Given the description of an element on the screen output the (x, y) to click on. 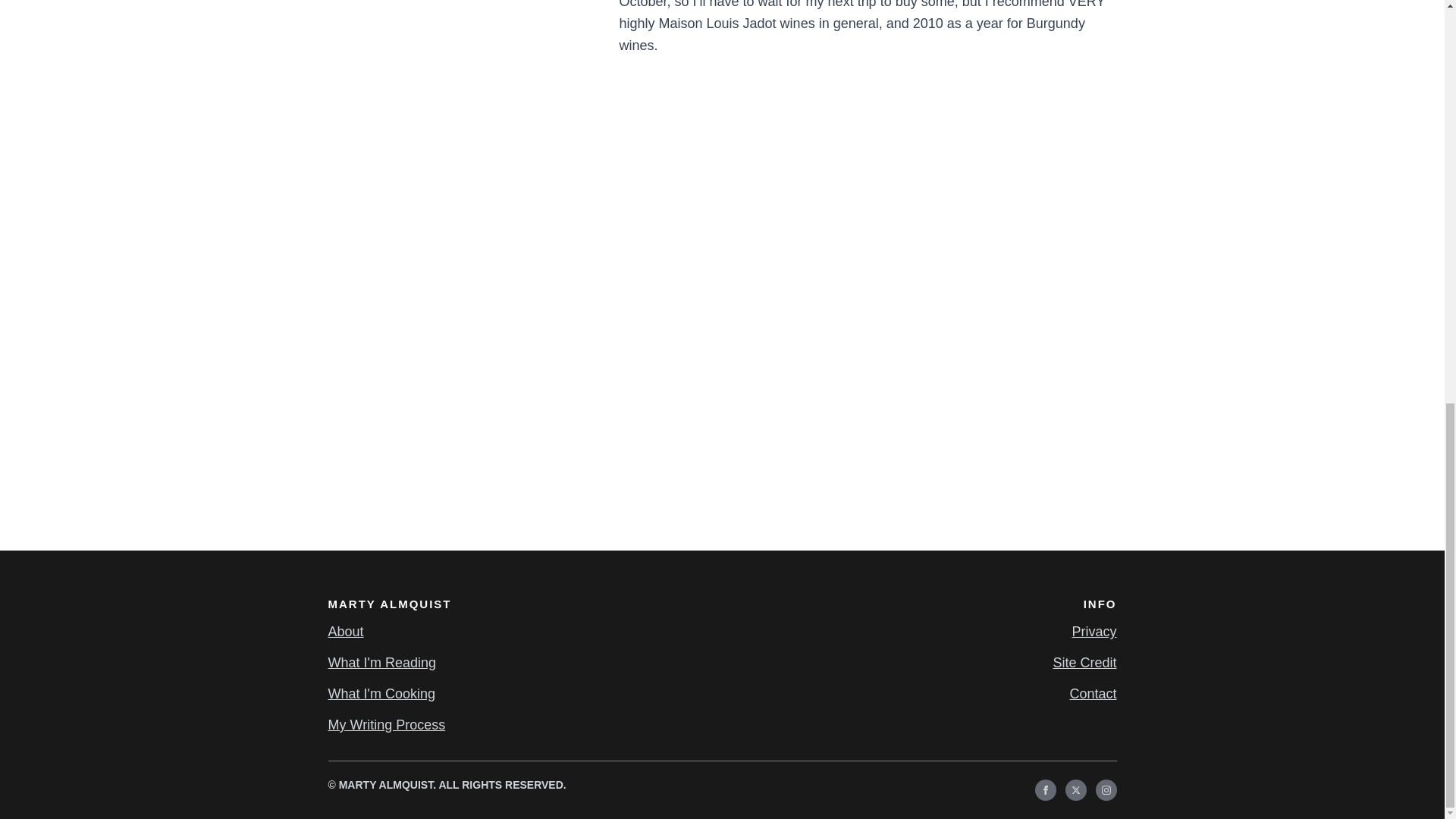
Site Credit (1084, 662)
About (344, 631)
What I'm Cooking (381, 694)
What I'm Reading (381, 662)
My Writing Process (386, 725)
Contact (1092, 694)
Privacy (1093, 631)
